Given the description of an element on the screen output the (x, y) to click on. 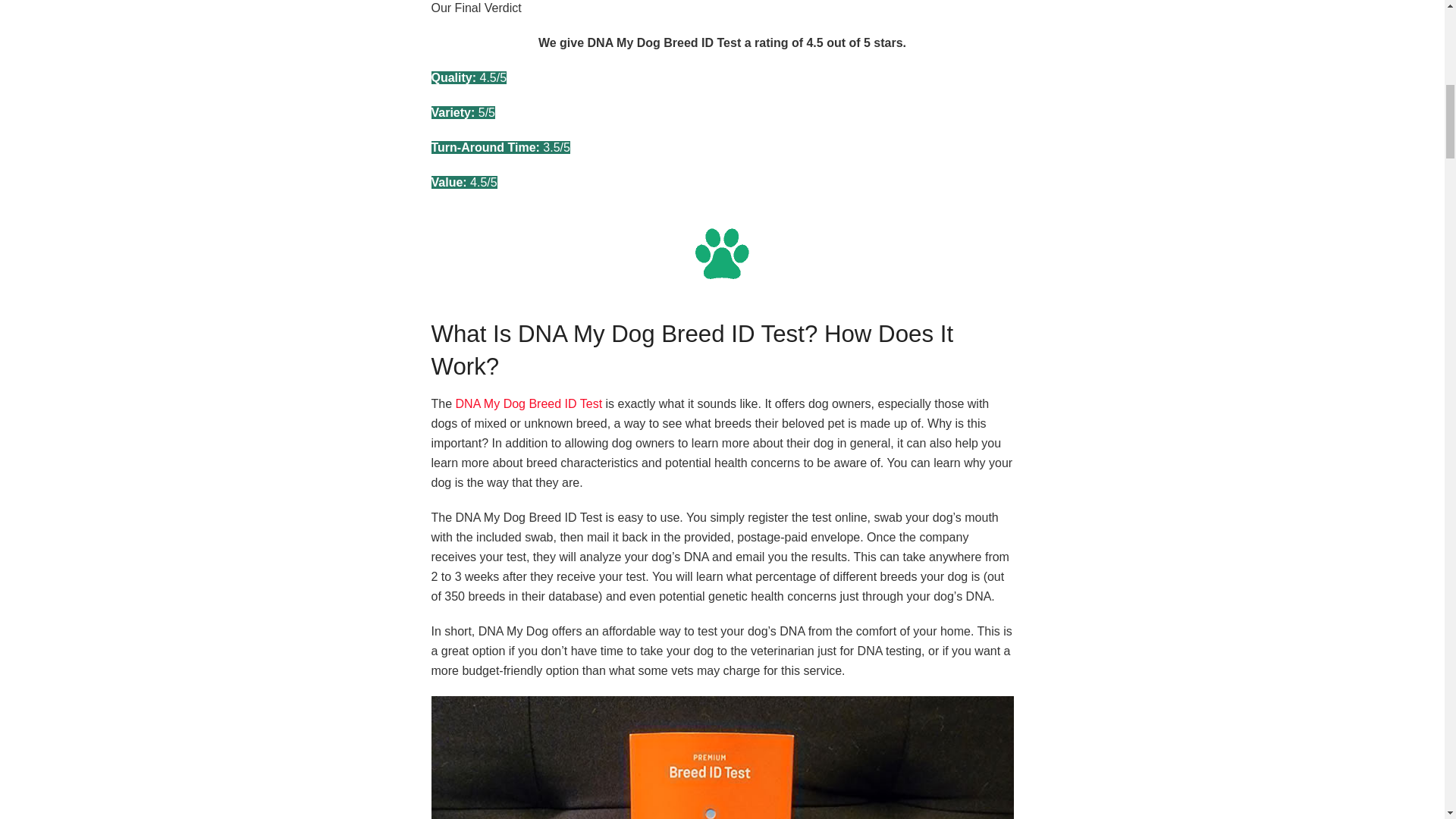
DNA My Dog Breed ID Test (528, 403)
